Given the description of an element on the screen output the (x, y) to click on. 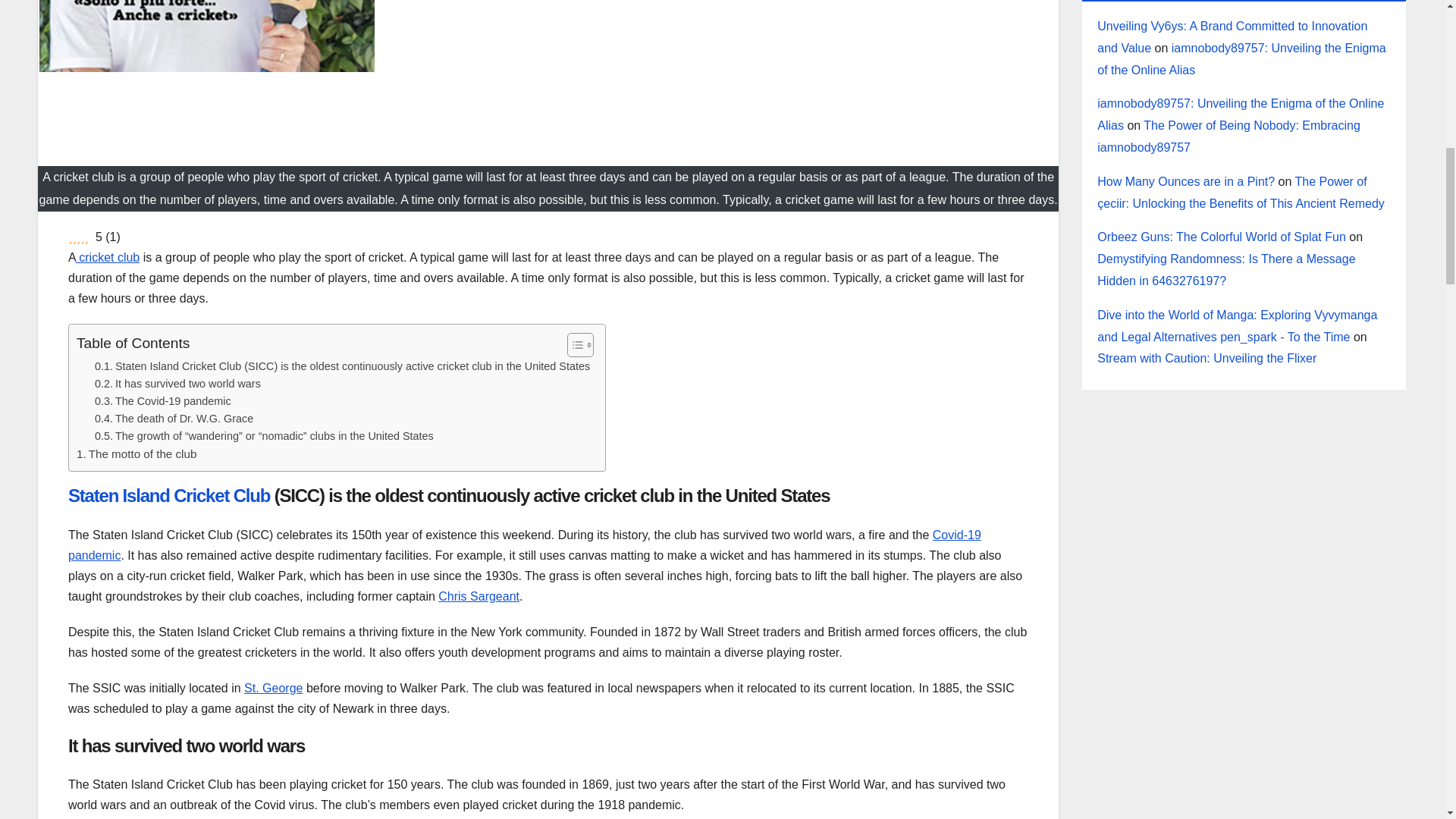
It has survived two world wars (177, 384)
The Covid-19 pandemic (162, 401)
The death of Dr. W.G. Grace (173, 418)
cricket club (107, 256)
